Given the description of an element on the screen output the (x, y) to click on. 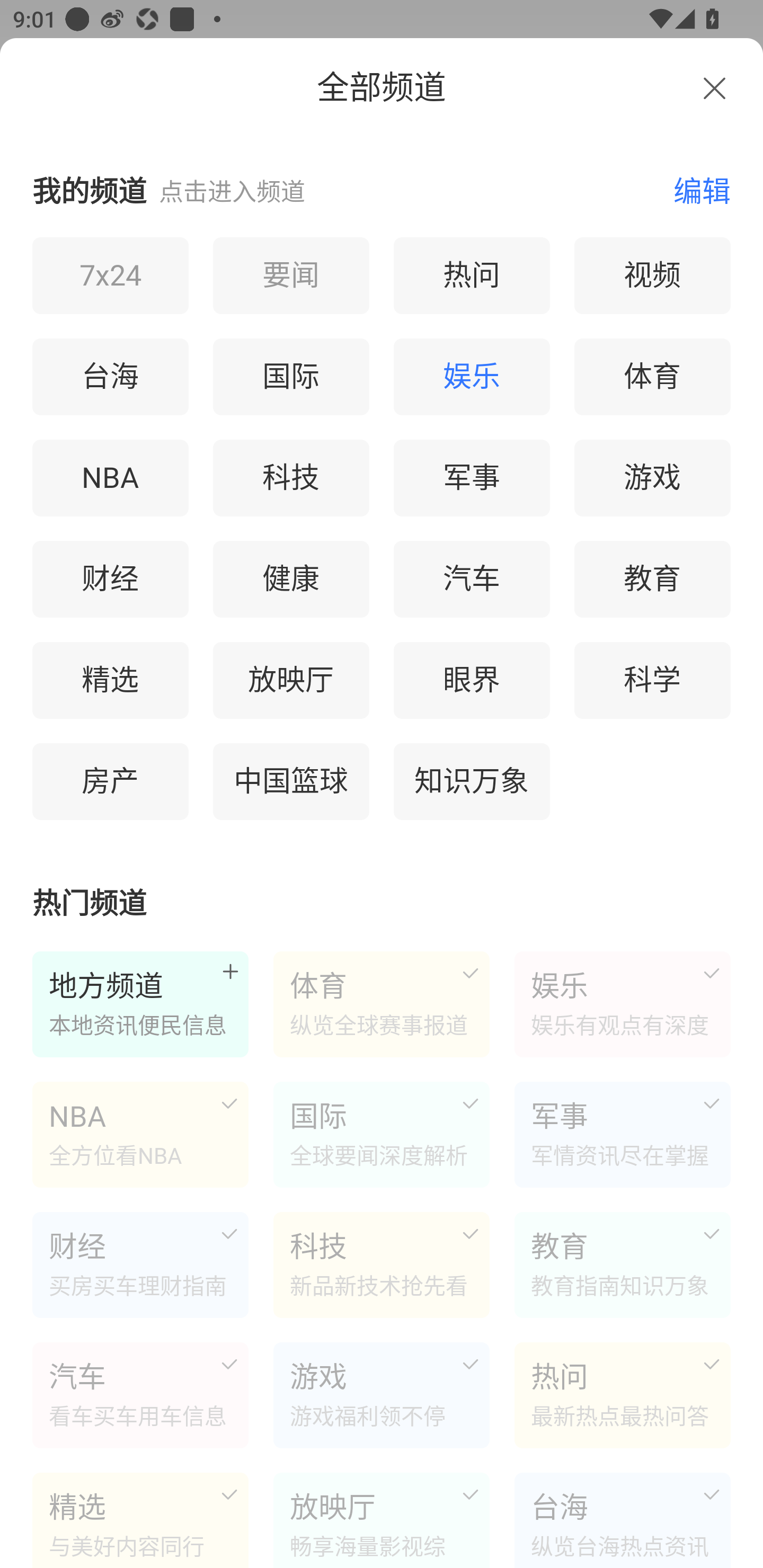
 (714, 87)
编辑 (691, 190)
